Given the description of an element on the screen output the (x, y) to click on. 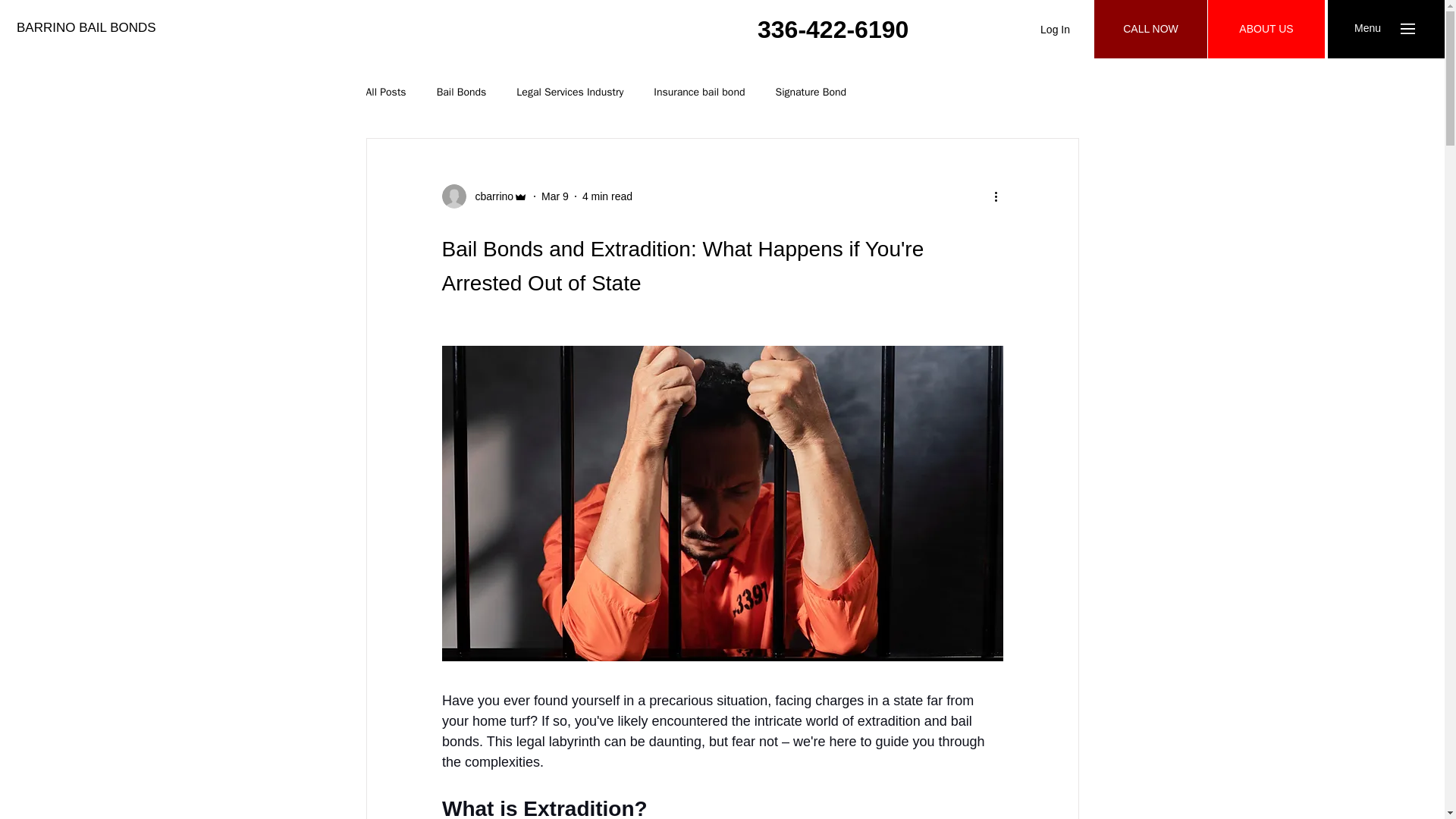
Log In (1054, 30)
cbarrino (484, 196)
Legal Services Industry (569, 92)
4 min read (606, 195)
CALL NOW (1150, 29)
ABOUT US (1266, 29)
cbarrino (489, 195)
Insurance bail bond (698, 92)
Mar 9 (555, 195)
BARRINO BAIL BONDS (85, 27)
All Posts (385, 92)
Bail Bonds (461, 92)
Signature Bond (809, 92)
